Given the description of an element on the screen output the (x, y) to click on. 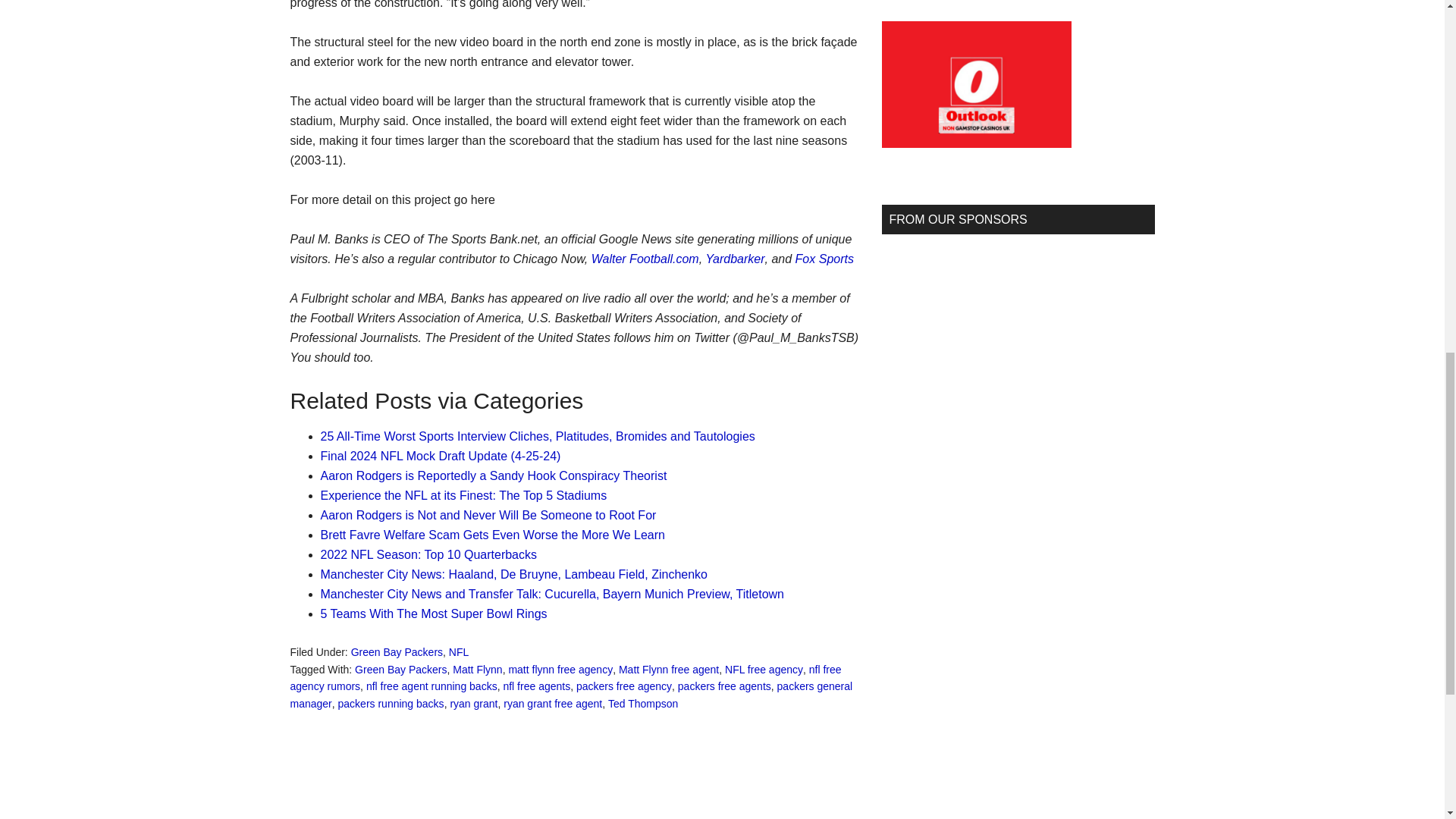
Brett Favre Welfare Scam Gets Even Worse the More We Learn (491, 534)
Aaron Rodgers is Reportedly a Sandy Hook Conspiracy Theorist (493, 475)
Yardbarker (735, 258)
Fox Sports (823, 258)
2022 NFL Season: Top 10 Quarterbacks (428, 554)
NFL (458, 652)
Green Bay Packers (400, 668)
